Given the description of an element on the screen output the (x, y) to click on. 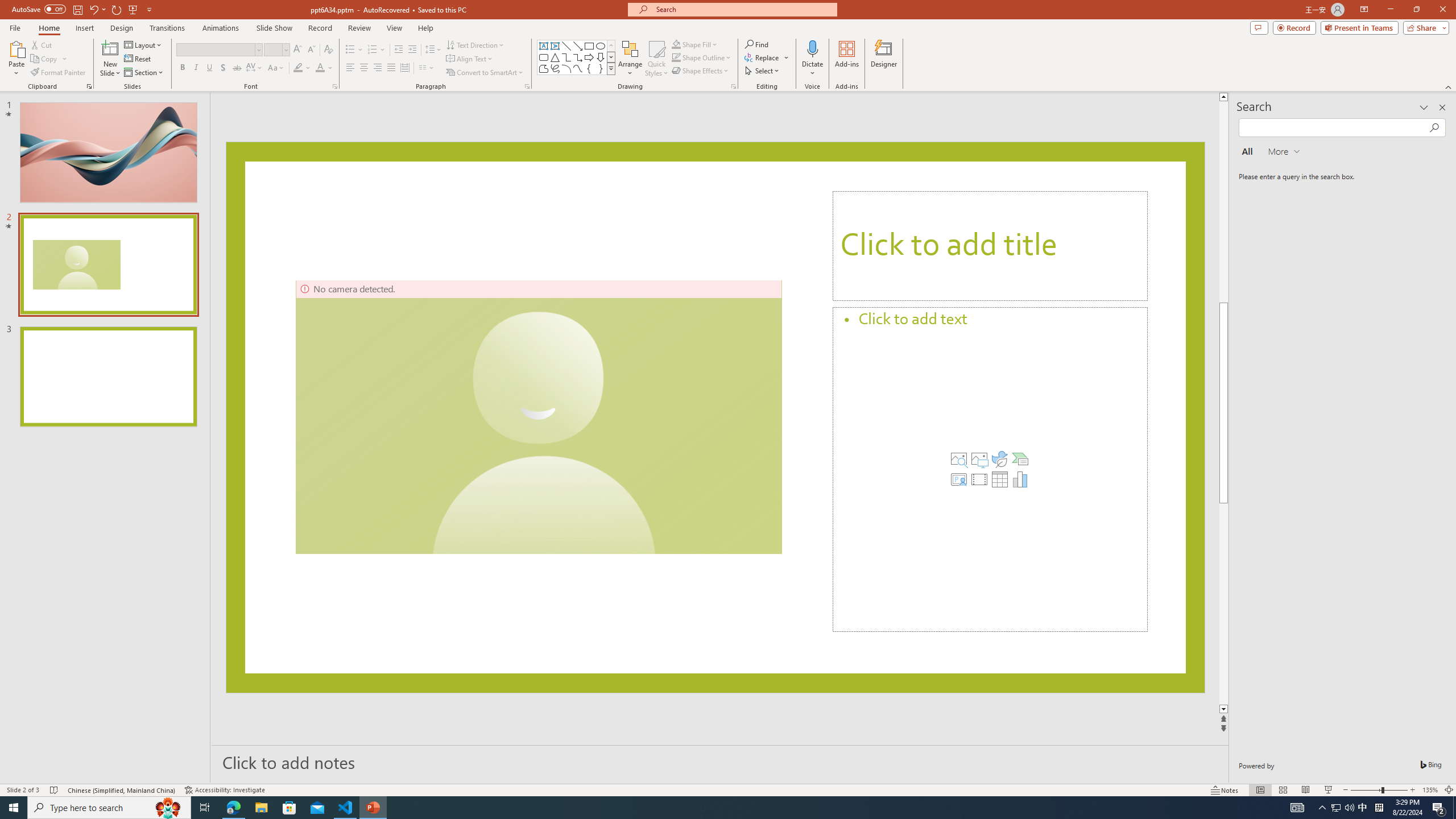
Select (762, 69)
Change Case (276, 67)
Camera 4, No camera detected. (539, 417)
More Options (812, 68)
Cut (42, 44)
Decrease Indent (398, 49)
Quick Styles (656, 58)
Designer (883, 58)
Text Box (543, 45)
Present in Teams (1359, 27)
Arrow: Down (600, 57)
Shape Fill (694, 44)
Find... (756, 44)
Shape Fill (675, 44)
Spell Check No Errors (54, 790)
